Given the description of an element on the screen output the (x, y) to click on. 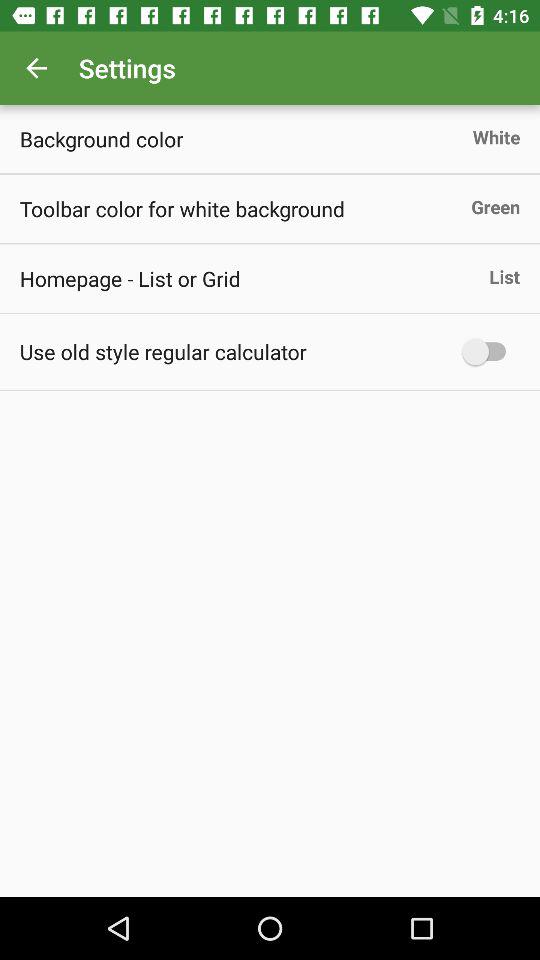
select the icon below the homepage list or (162, 351)
